Given the description of an element on the screen output the (x, y) to click on. 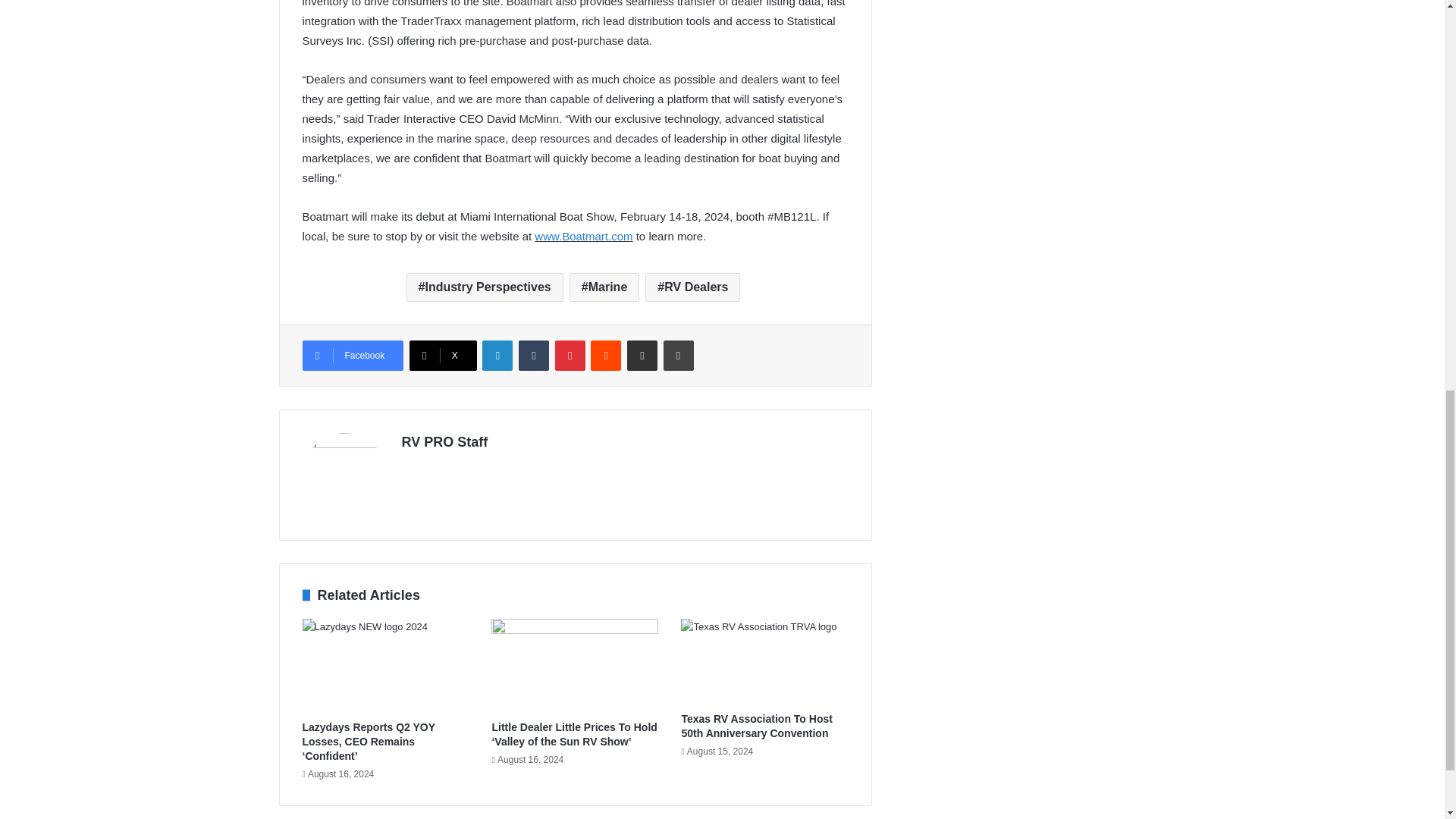
Tumblr (533, 355)
Reddit (606, 355)
Pinterest (569, 355)
X (443, 355)
LinkedIn (496, 355)
Share via Email (642, 355)
Print (678, 355)
Facebook (352, 355)
